Given the description of an element on the screen output the (x, y) to click on. 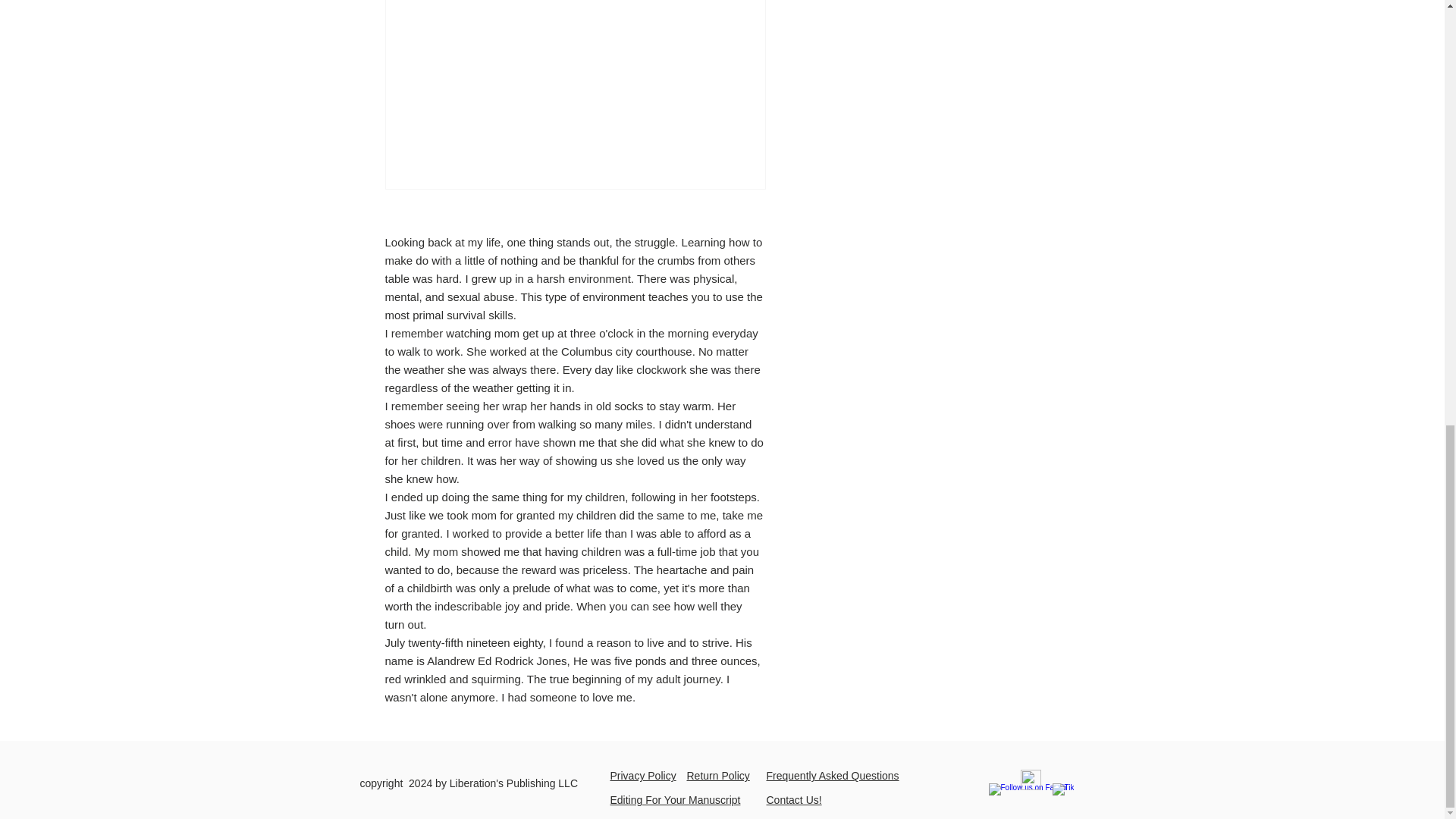
Contact Us! (793, 799)
Return Policy (718, 775)
Editing For Your Manuscript (674, 799)
Frequently Asked Questions (831, 775)
Privacy Policy (642, 775)
